Given the description of an element on the screen output the (x, y) to click on. 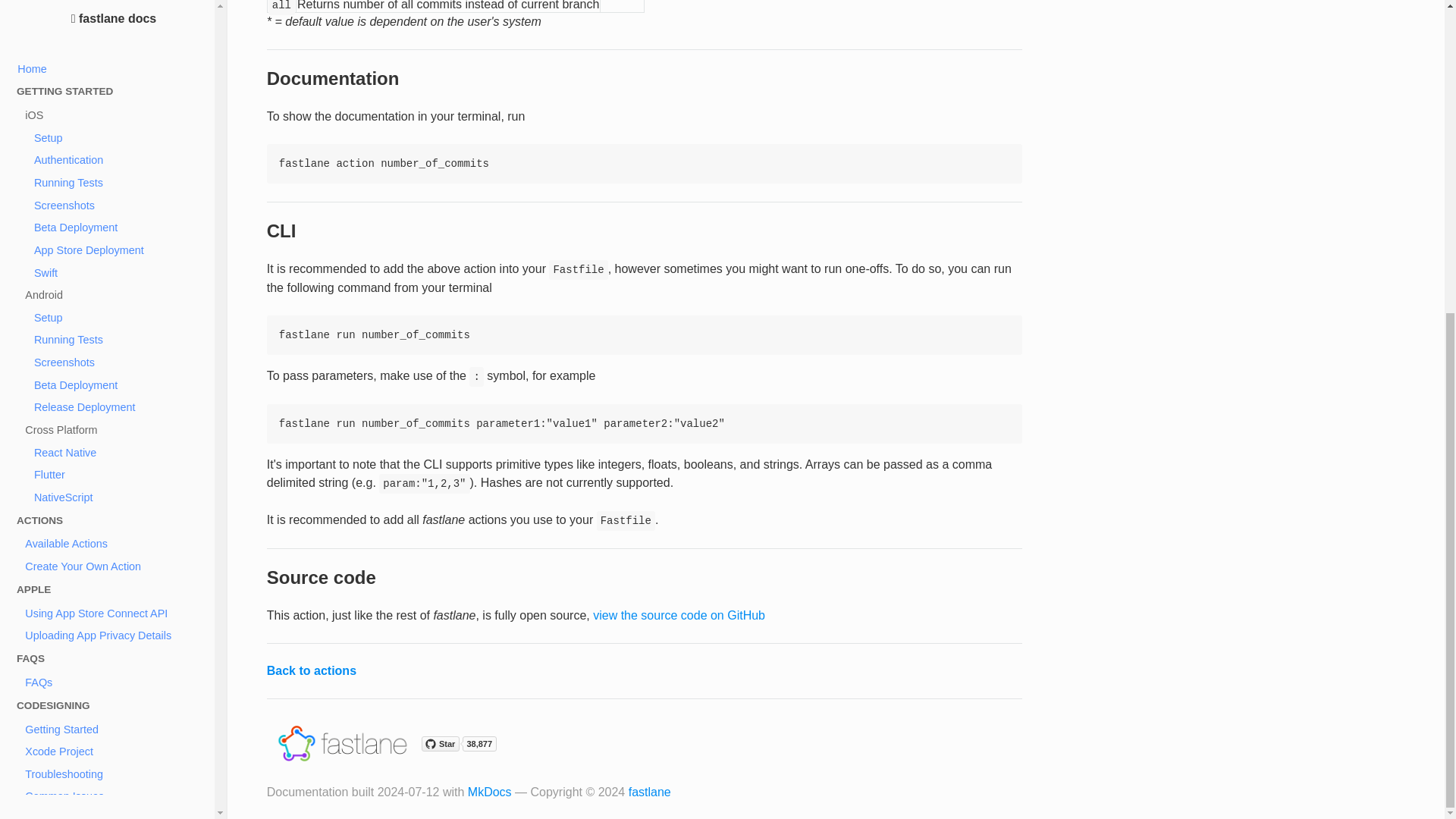
FAQs (117, 182)
Source Control (117, 480)
Appcircle (117, 548)
Create Your Own Plugin (117, 388)
Available Actions (117, 45)
Using App Store Connect API (117, 114)
Create Your Own Action (117, 67)
Xcode Project (117, 251)
Uploading App Privacy Details (117, 137)
Azure DevOps (117, 570)
Troubleshooting (117, 274)
Available Plugins (117, 343)
CI Integrations (117, 526)
Xcodebuild Formatters (117, 458)
Use Plugins (117, 366)
